Given the description of an element on the screen output the (x, y) to click on. 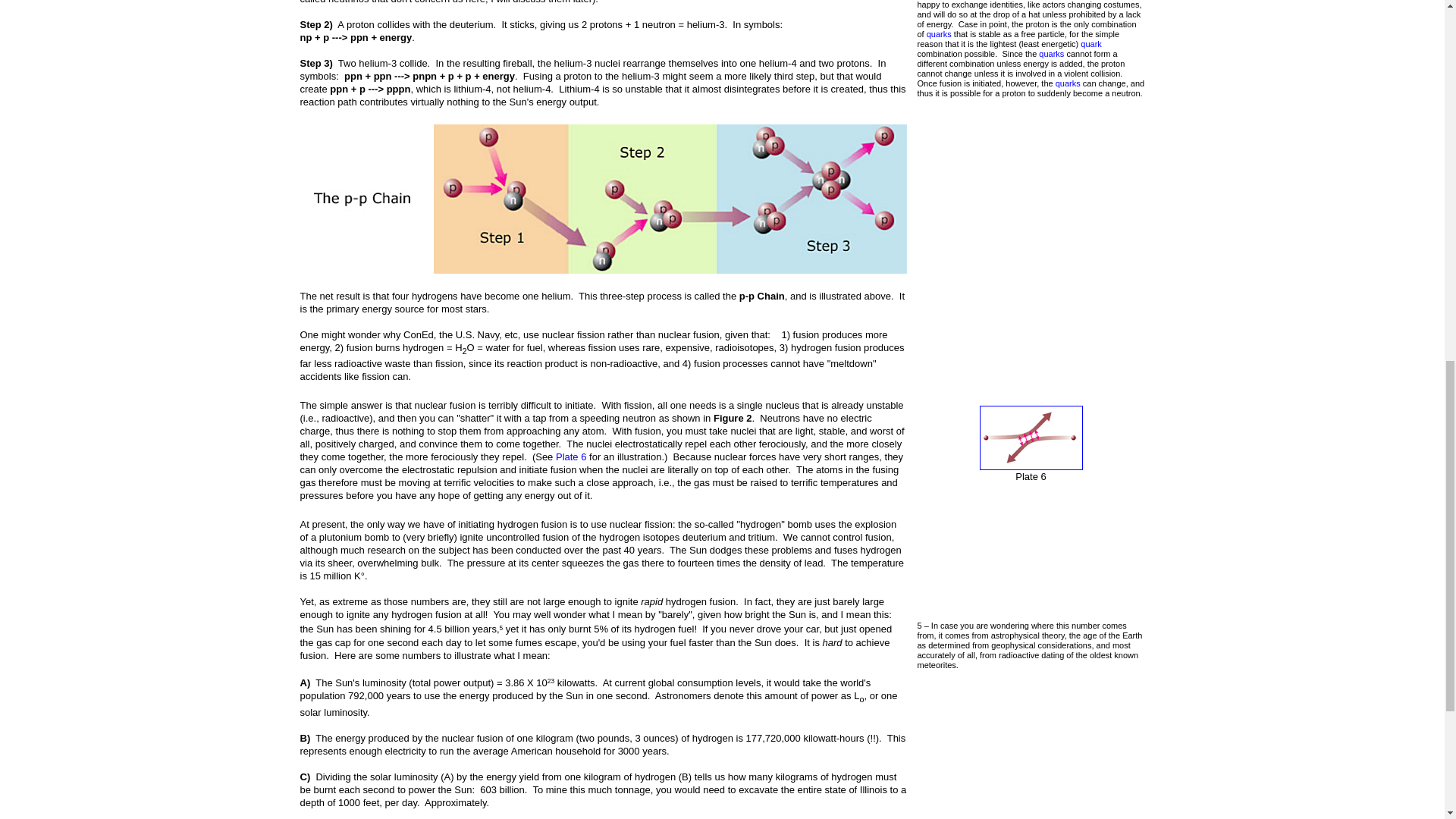
quarks (1067, 82)
quarks (939, 33)
quark (1091, 43)
Plate 6 (571, 456)
quarks (1051, 53)
